Given the description of an element on the screen output the (x, y) to click on. 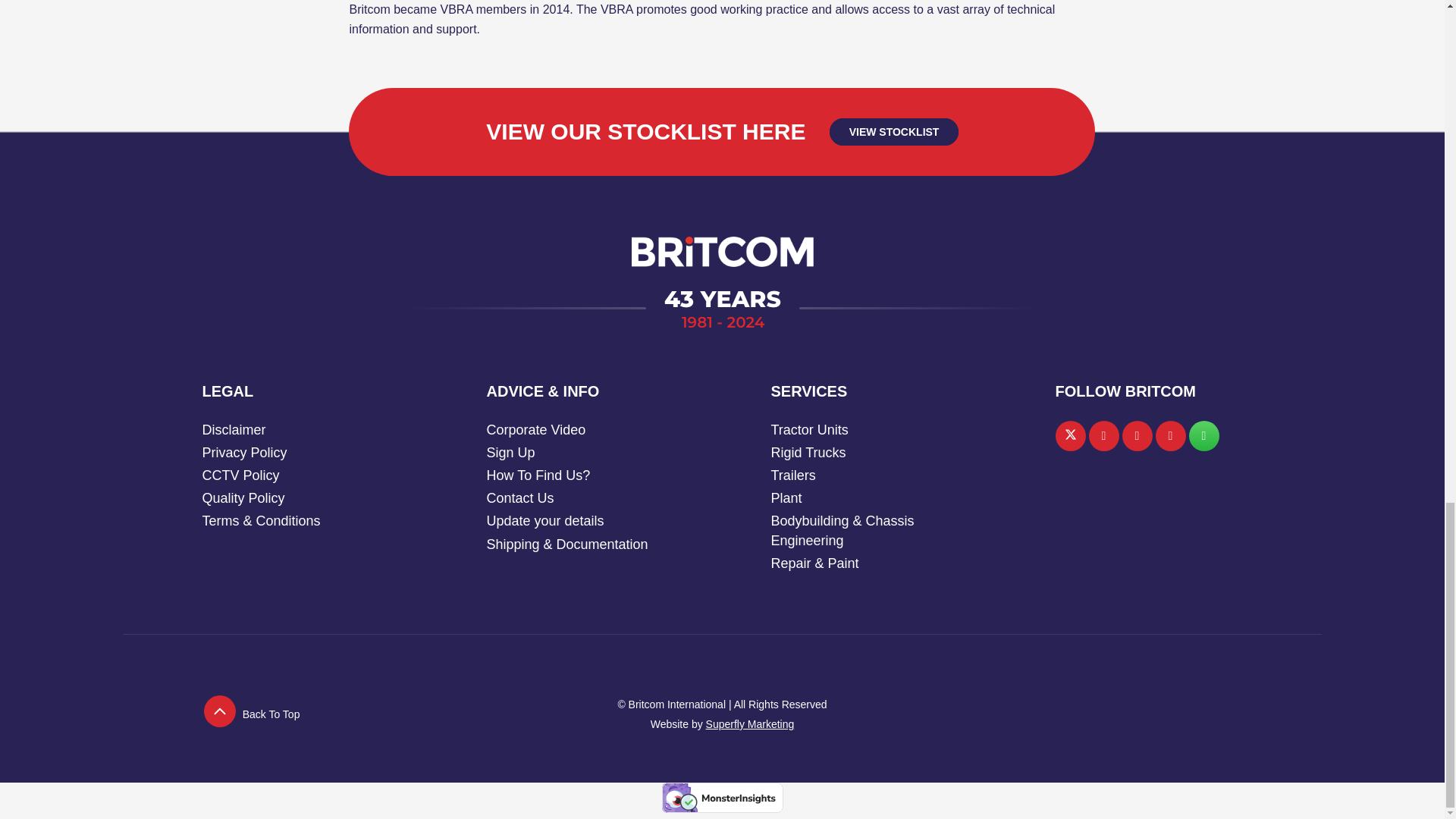
LinkedIn (1137, 435)
Quality Policy (242, 498)
YouTube (1171, 435)
Verified by MonsterInsights (722, 797)
CCTV Policy (240, 475)
WhatsApp (1204, 435)
Disclaimer (233, 429)
Facebook (1104, 435)
Twitter (1070, 435)
Privacy Policy (244, 452)
VIEW STOCKLIST (893, 131)
